Given the description of an element on the screen output the (x, y) to click on. 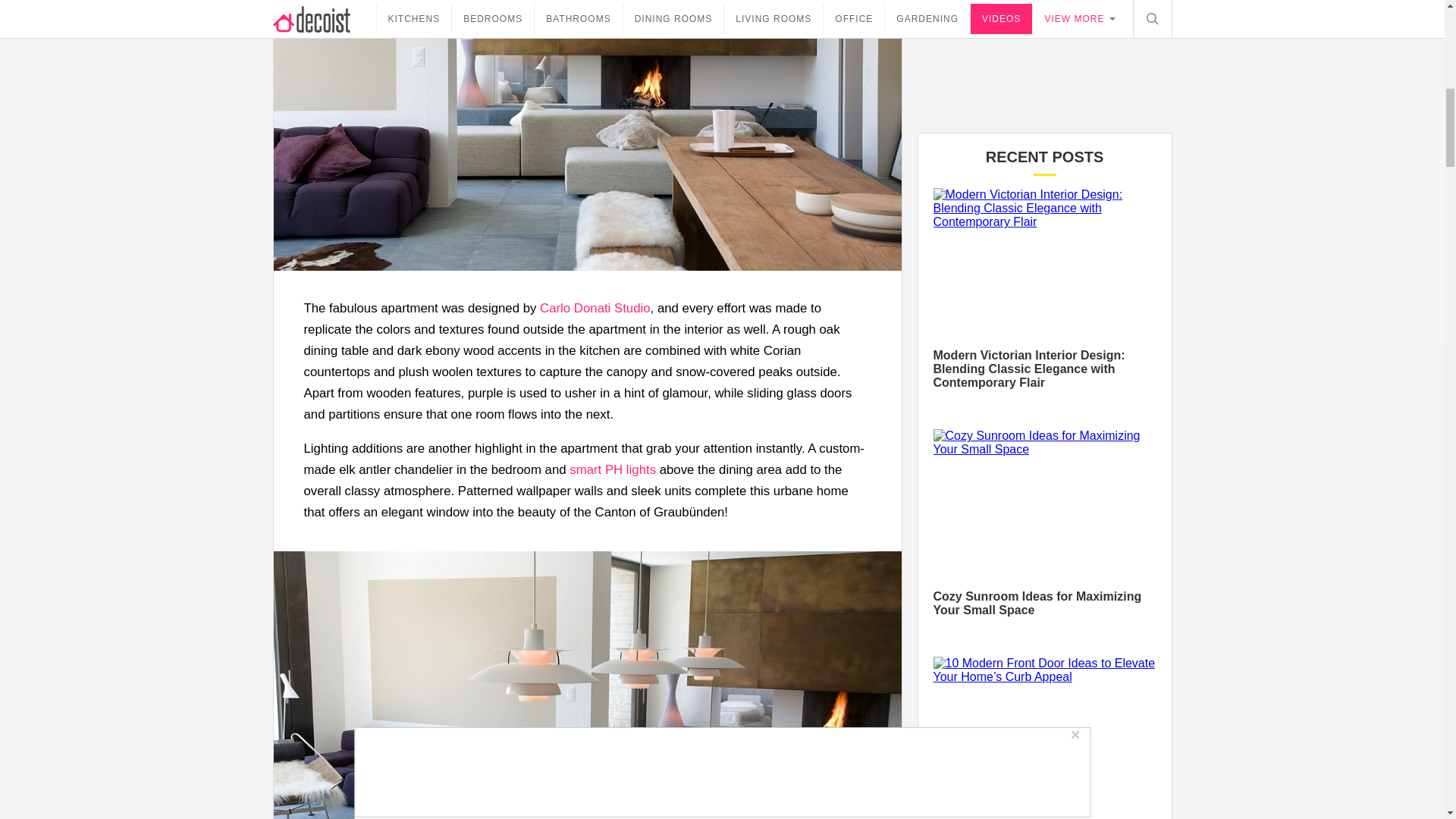
smart PH lights (612, 469)
Carlo Donati Studio (595, 308)
